Given the description of an element on the screen output the (x, y) to click on. 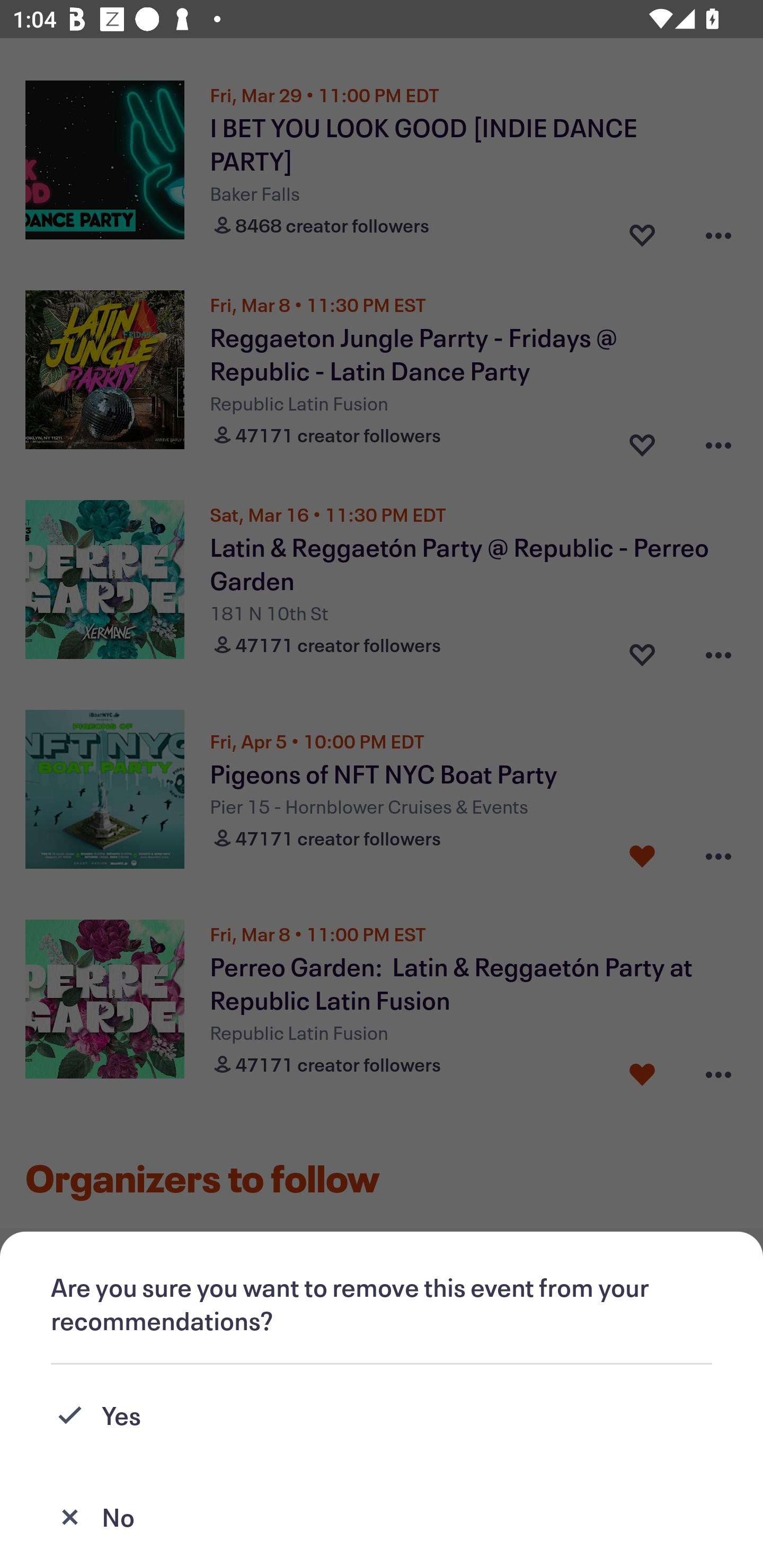
Yes (381, 1415)
No (381, 1517)
